Given the description of an element on the screen output the (x, y) to click on. 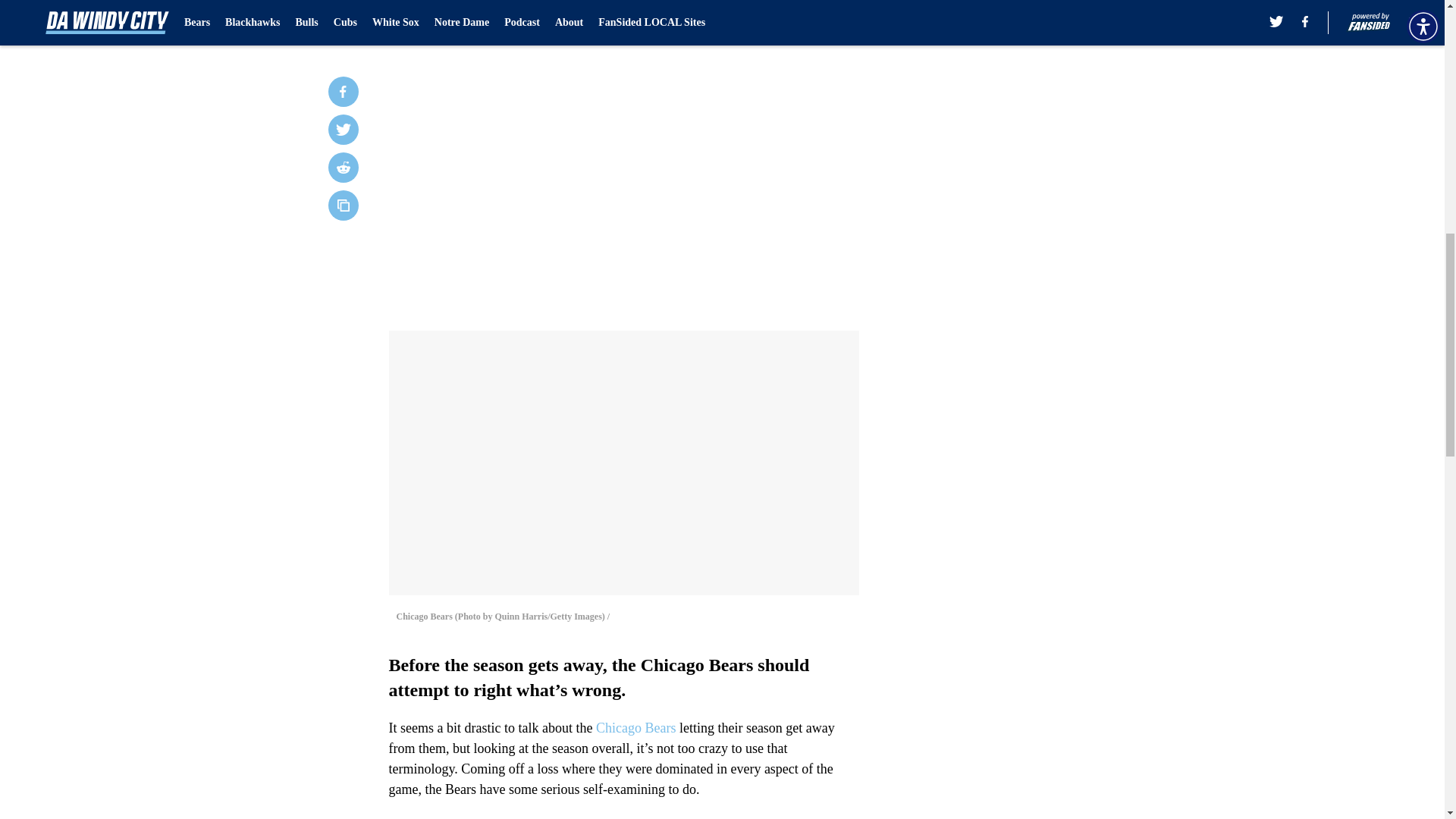
Prev (433, 20)
Chicago Bears (635, 727)
Next (813, 20)
